Given the description of an element on the screen output the (x, y) to click on. 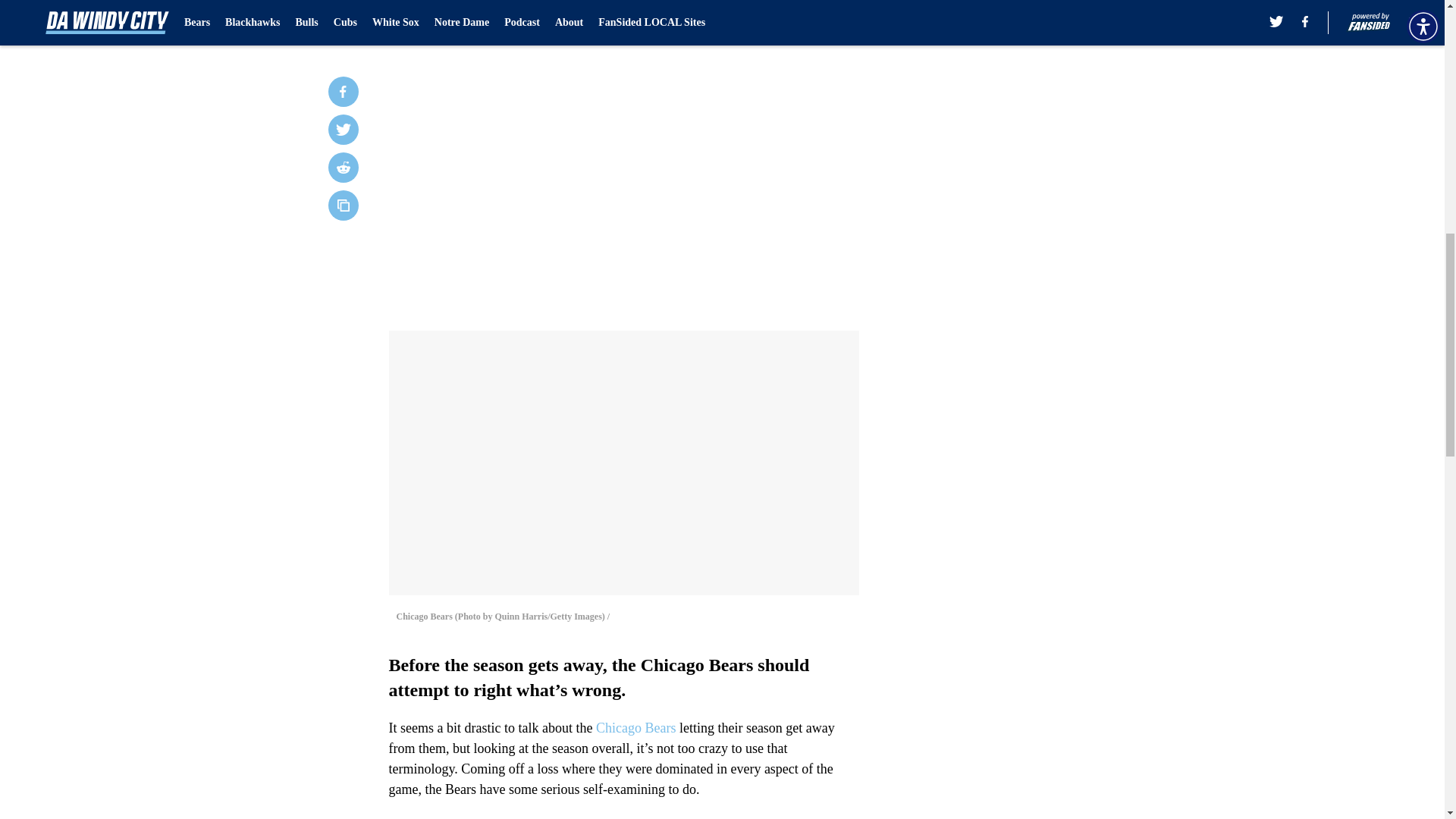
Prev (433, 20)
Chicago Bears (635, 727)
Next (813, 20)
